Given the description of an element on the screen output the (x, y) to click on. 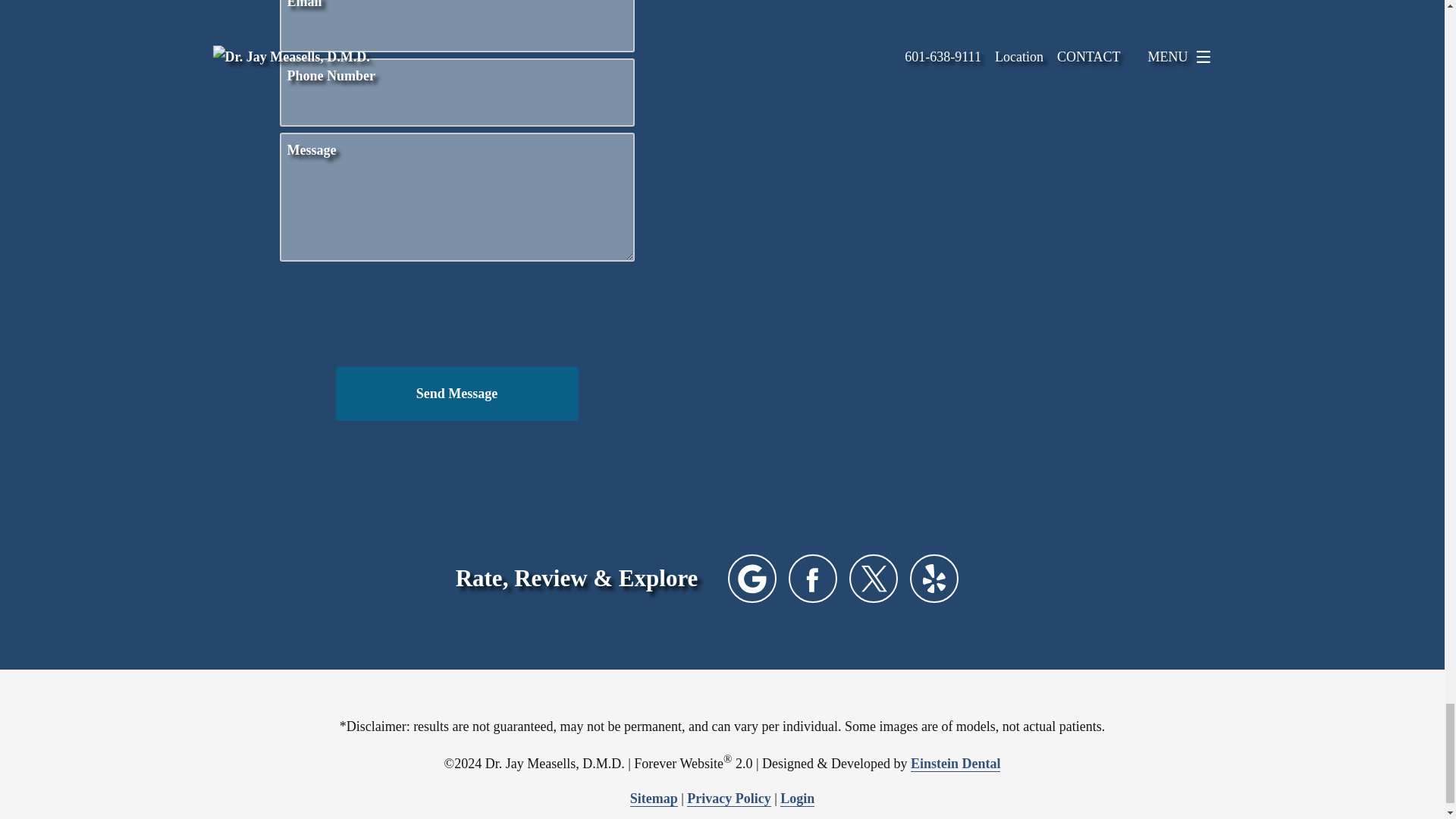
Sitemap (654, 798)
Send Message (456, 393)
Google (752, 578)
Einstein Dental (956, 763)
Facebook (813, 578)
Login (796, 798)
Privacy Policy (728, 798)
Yelp (934, 578)
Twitter (873, 578)
